Given the description of an element on the screen output the (x, y) to click on. 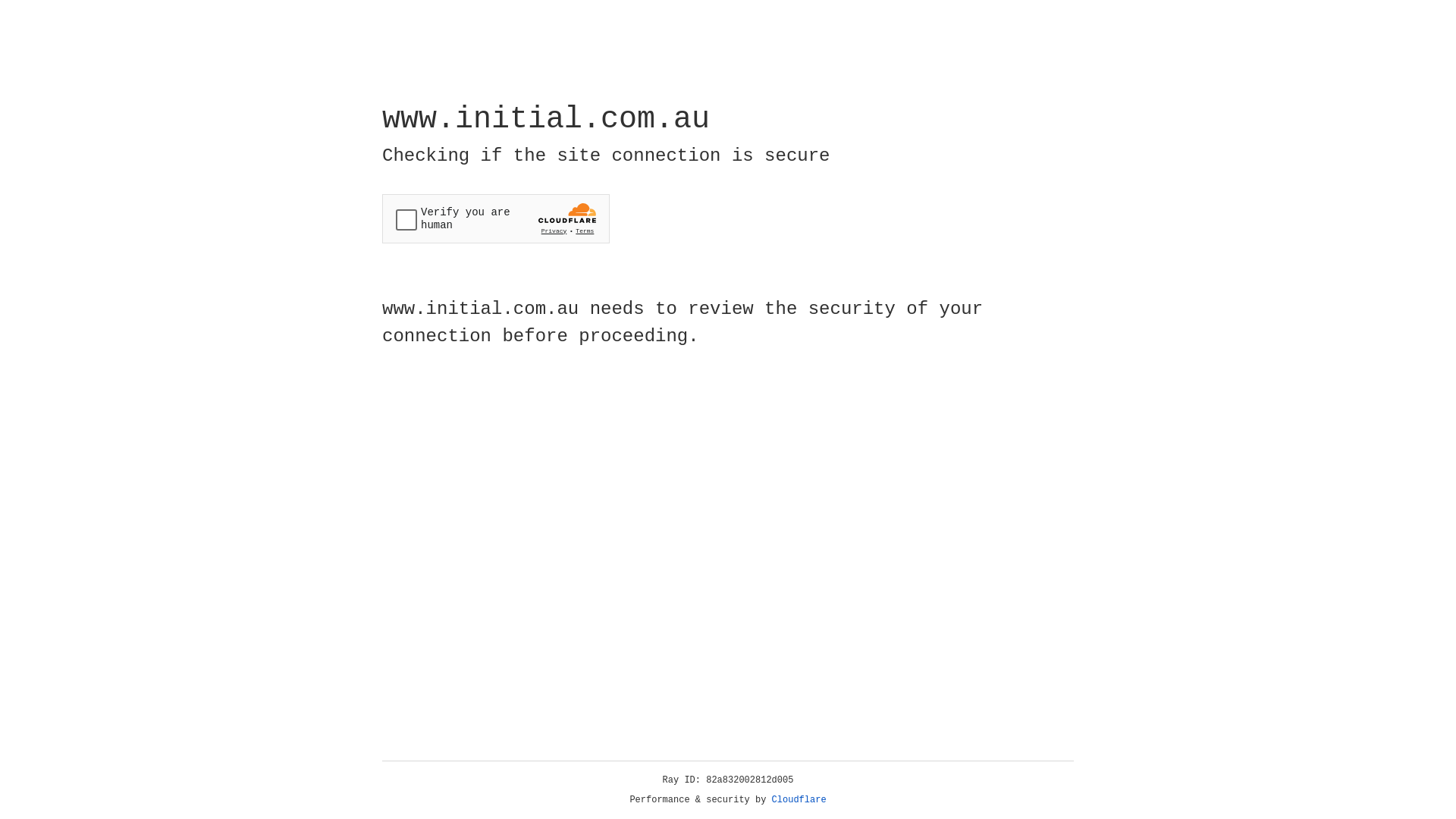
Widget containing a Cloudflare security challenge Element type: hover (495, 218)
Cloudflare Element type: text (798, 799)
